Given the description of an element on the screen output the (x, y) to click on. 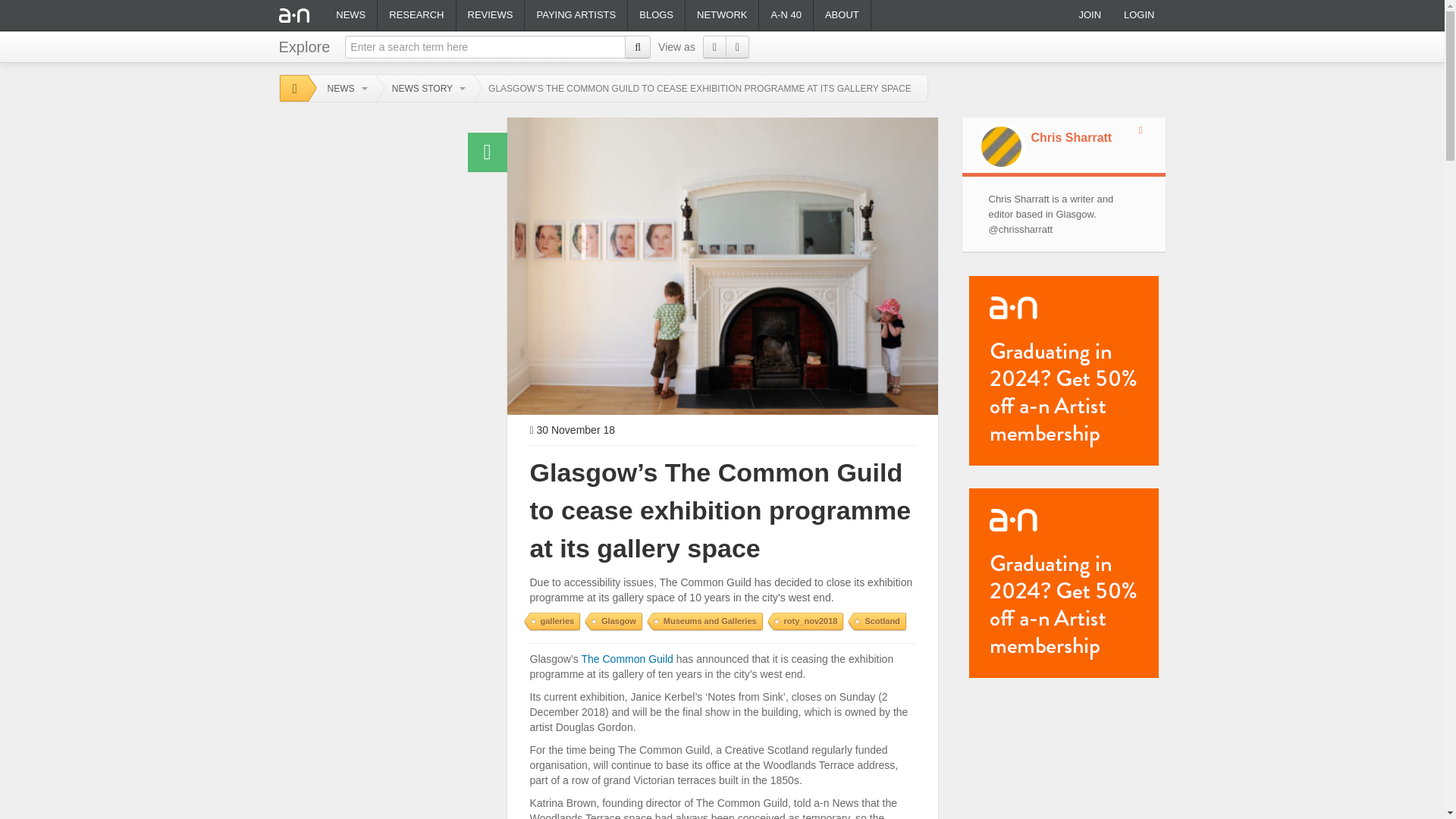
Network (721, 15)
NEWS (342, 88)
Explore (304, 42)
Reviews (490, 15)
NETWORK (721, 15)
BLOGS (655, 15)
About (841, 15)
PAYING ARTISTS (575, 15)
Campaigns stories (575, 15)
Blogs (655, 15)
JOIN (1089, 15)
RESEARCH (415, 15)
NEWS (350, 15)
ABOUT (841, 15)
Add to my network (1147, 129)
